Given the description of an element on the screen output the (x, y) to click on. 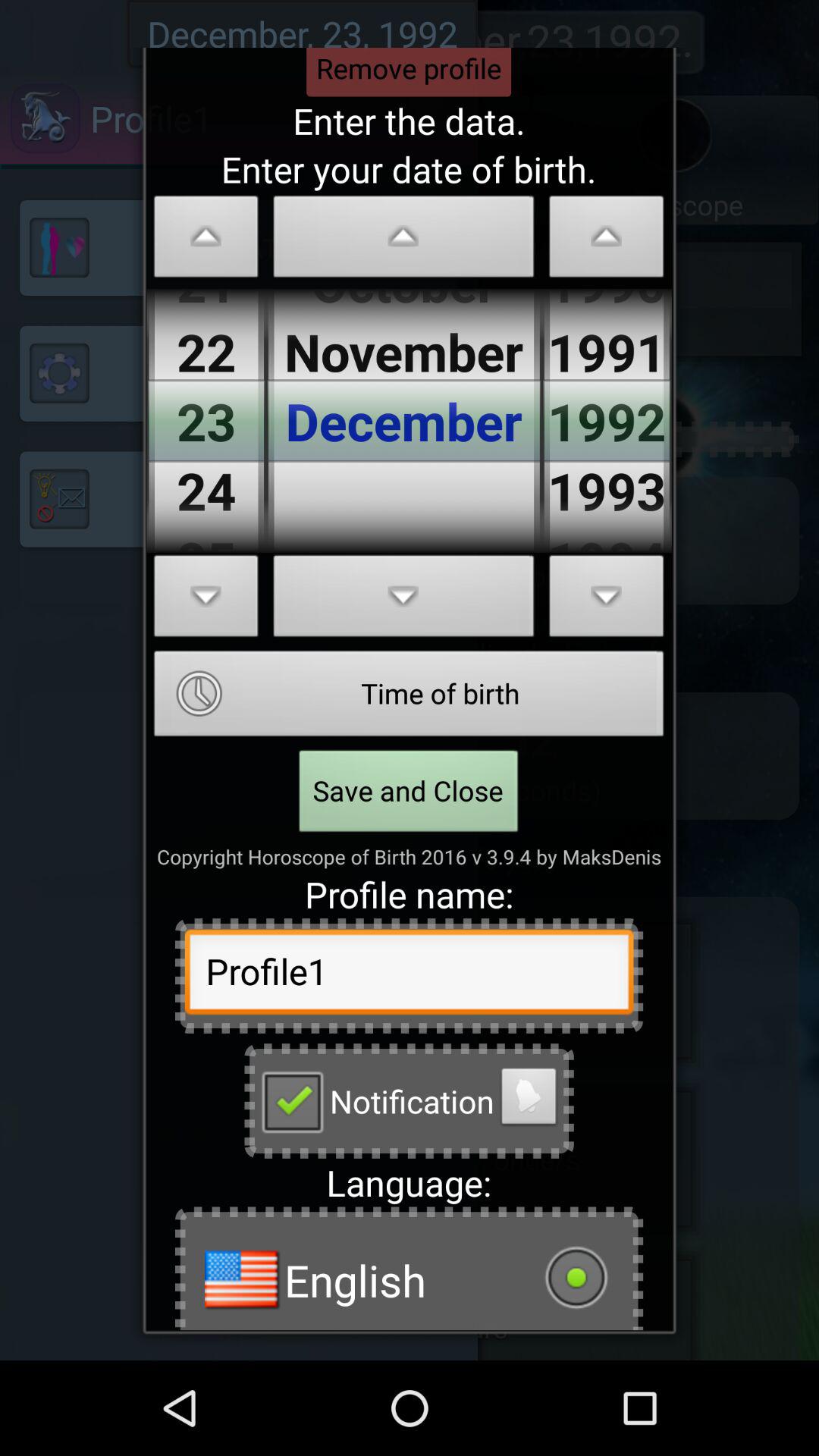
change sound option (529, 1100)
